Given the description of an element on the screen output the (x, y) to click on. 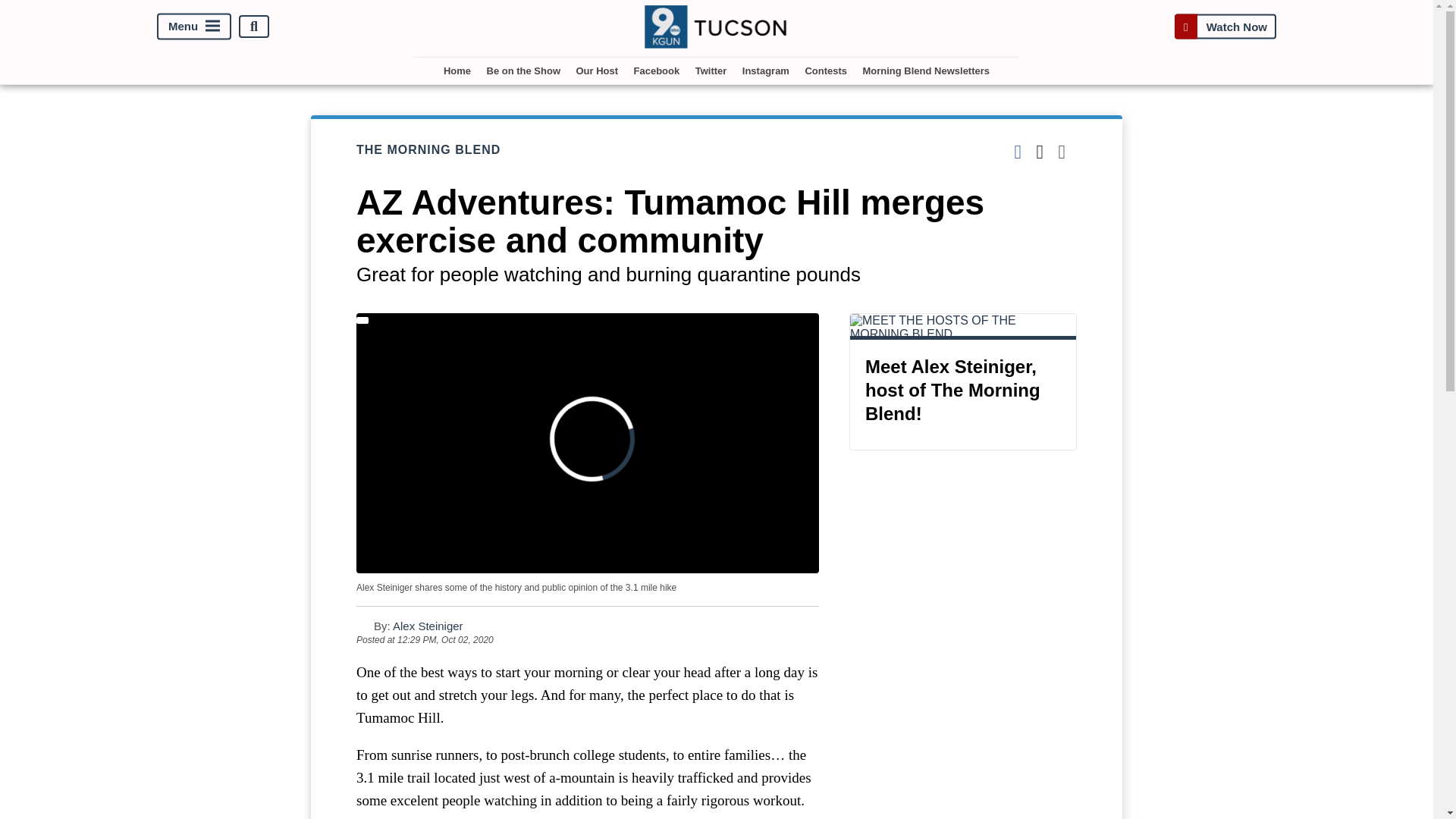
Watch Now (1224, 26)
Menu (194, 26)
